Given the description of an element on the screen output the (x, y) to click on. 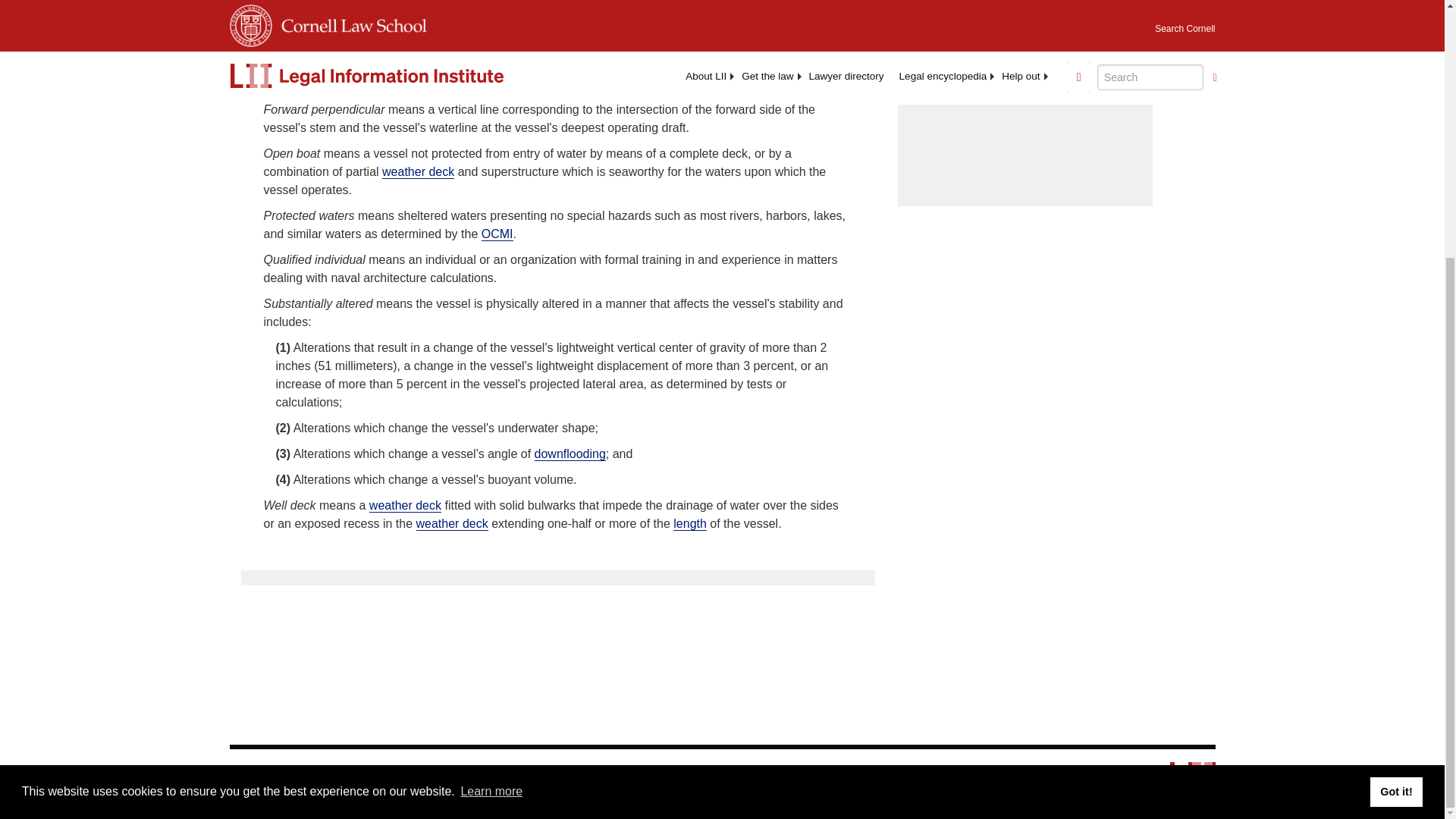
3rd party ad content (1025, 103)
Got it! (1396, 424)
Learn more (491, 424)
